Given the description of an element on the screen output the (x, y) to click on. 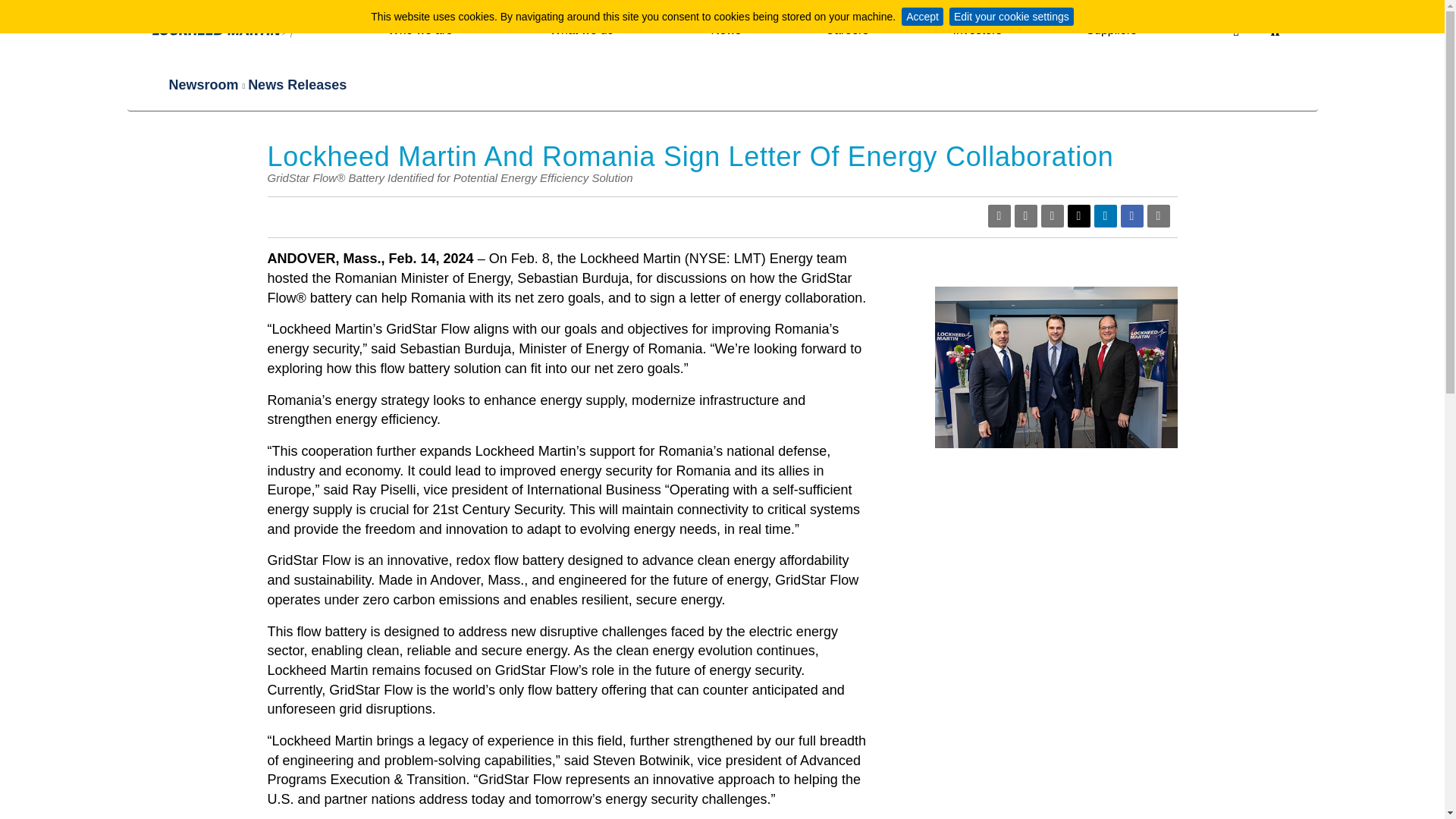
News (725, 32)
Accept (922, 16)
What we do (588, 32)
pdf (1025, 215)
rss (998, 215)
Edit your cookie settings (1011, 16)
email (1051, 215)
Facebook Share (1131, 215)
Twitter Share (1078, 215)
Linkedin Share (1104, 215)
